Given the description of an element on the screen output the (x, y) to click on. 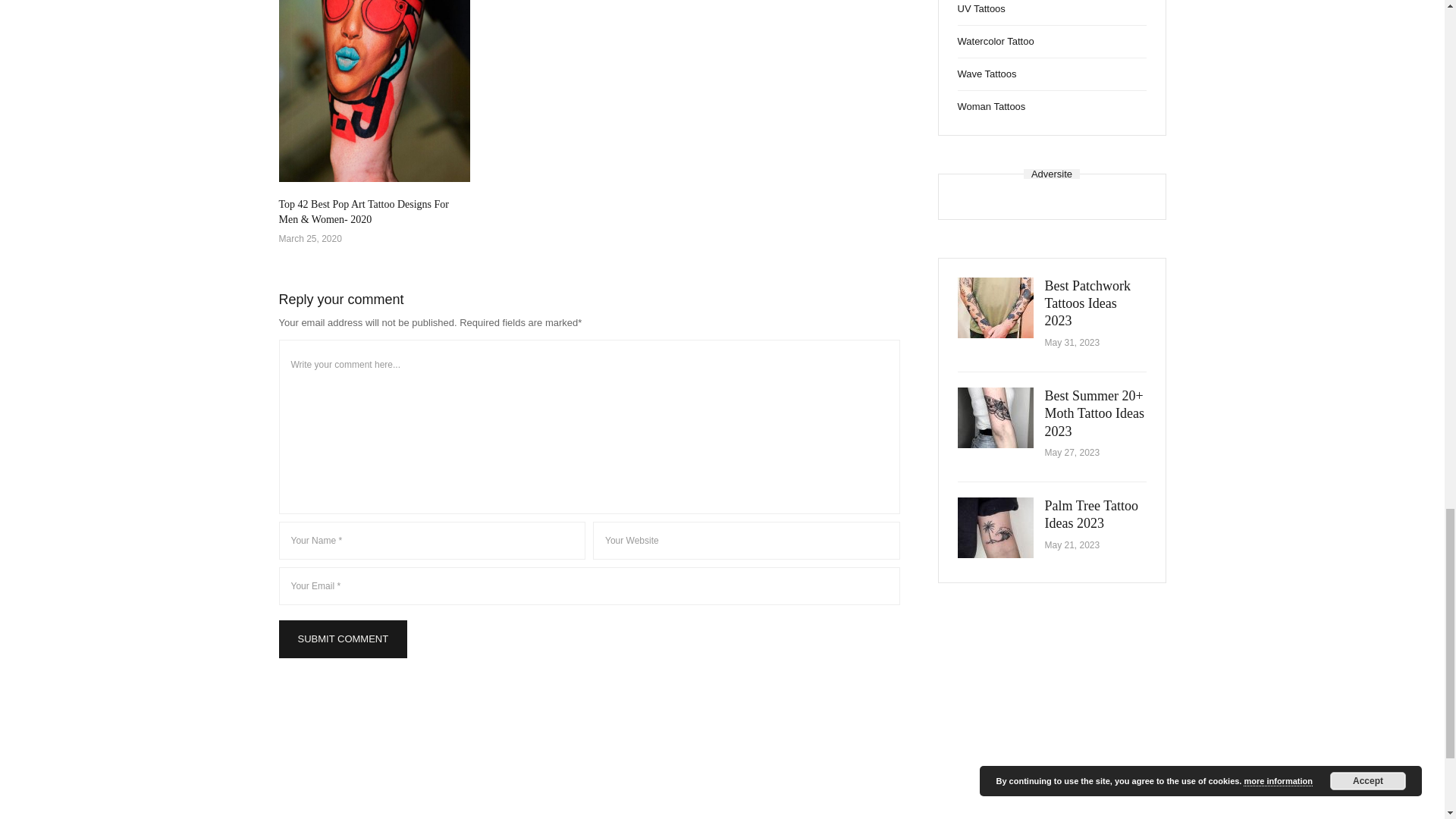
Submit Comment (343, 638)
Palm Tree Tattoo Ideas 2023 (994, 527)
Best Patchwork Tattoos Ideas 2023 (1088, 303)
Best Patchwork Tattoos Ideas 2023 (994, 307)
Palm Tree Tattoo Ideas 2023 (1091, 513)
